Given the description of an element on the screen output the (x, y) to click on. 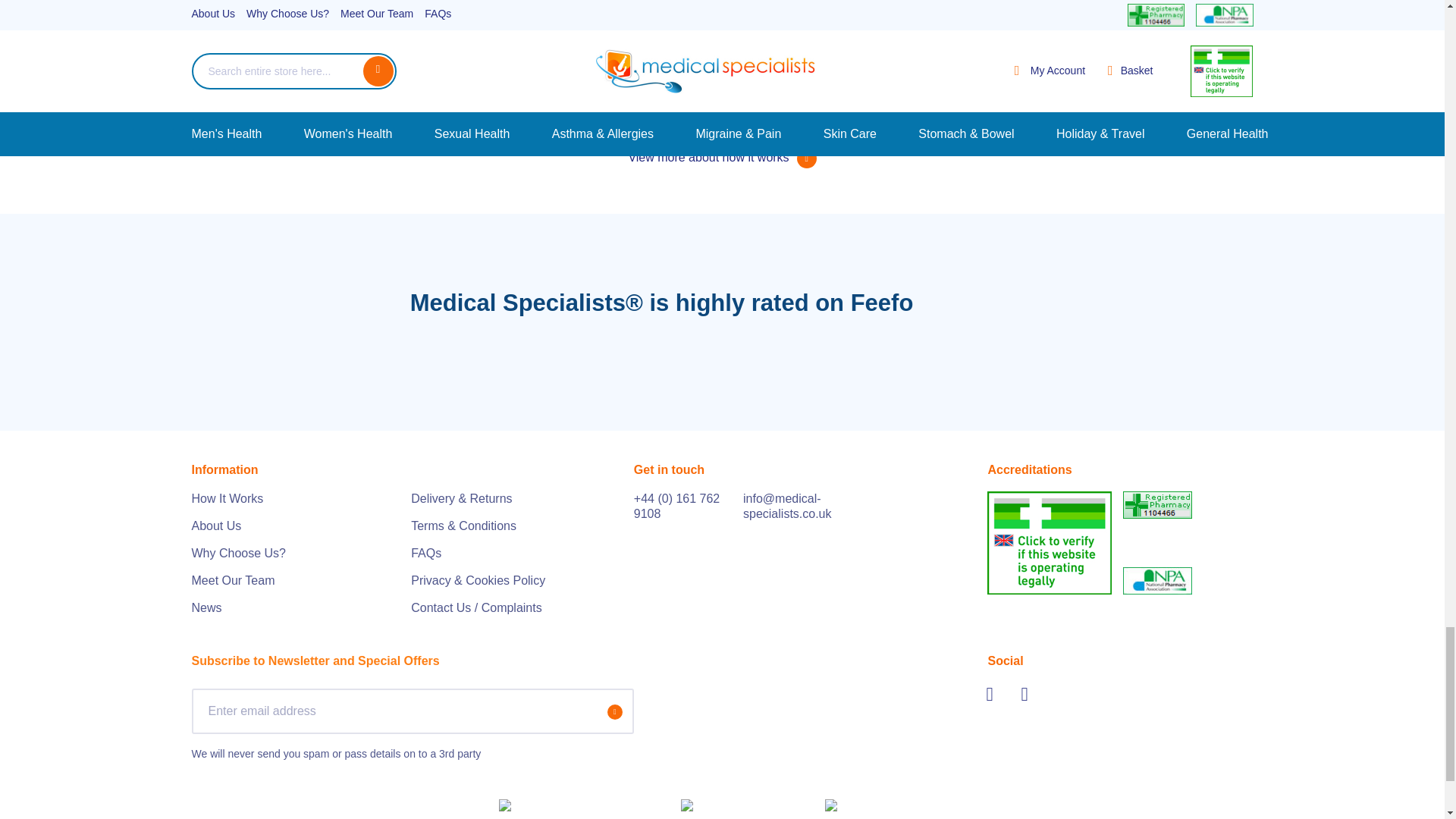
Subscribe (614, 711)
Twitter (997, 693)
Facebook (1031, 693)
